Given the description of an element on the screen output the (x, y) to click on. 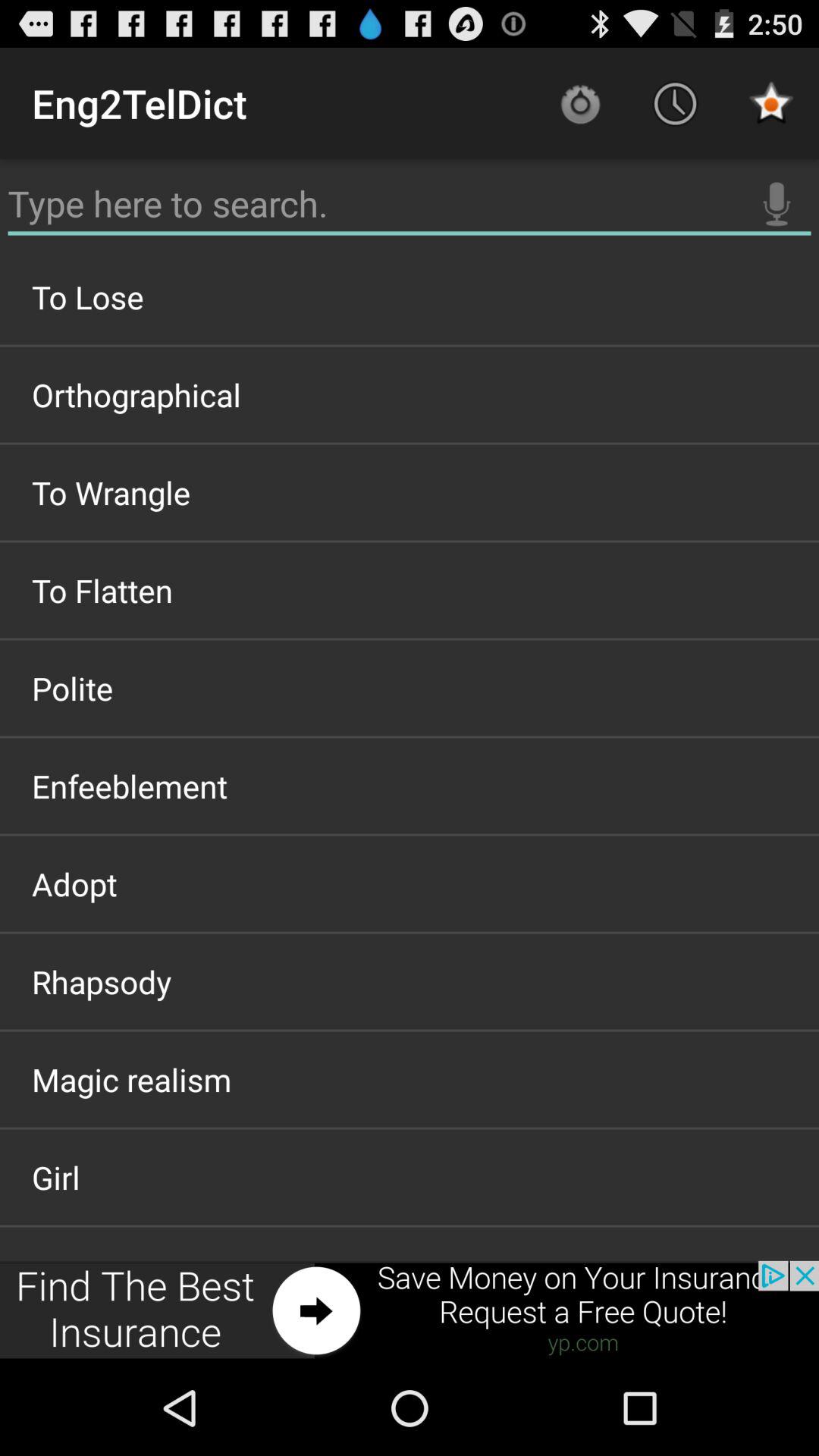
turn off icon below magic realism (409, 1177)
